Given the description of an element on the screen output the (x, y) to click on. 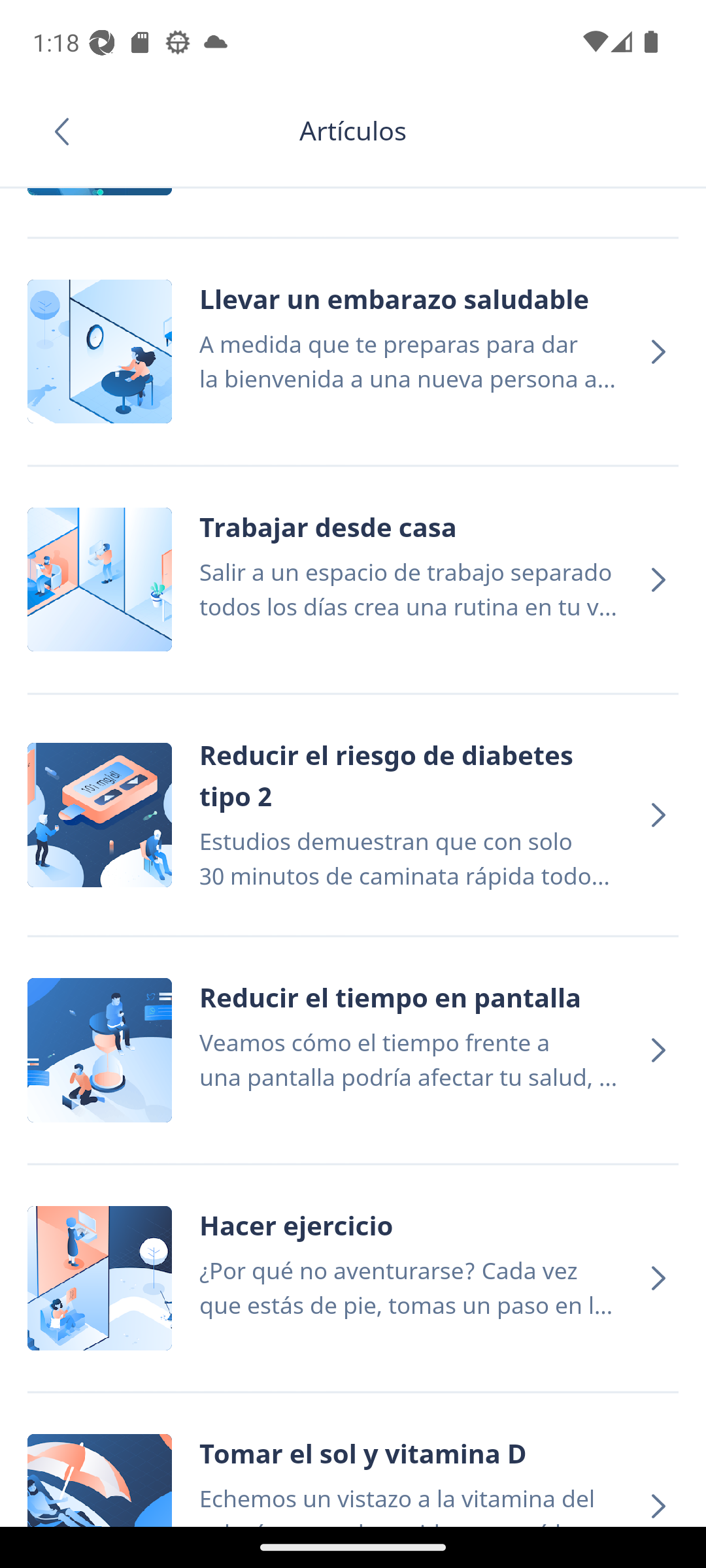
Go back, Navigates to the previous screen (68, 131)
